Given the description of an element on the screen output the (x, y) to click on. 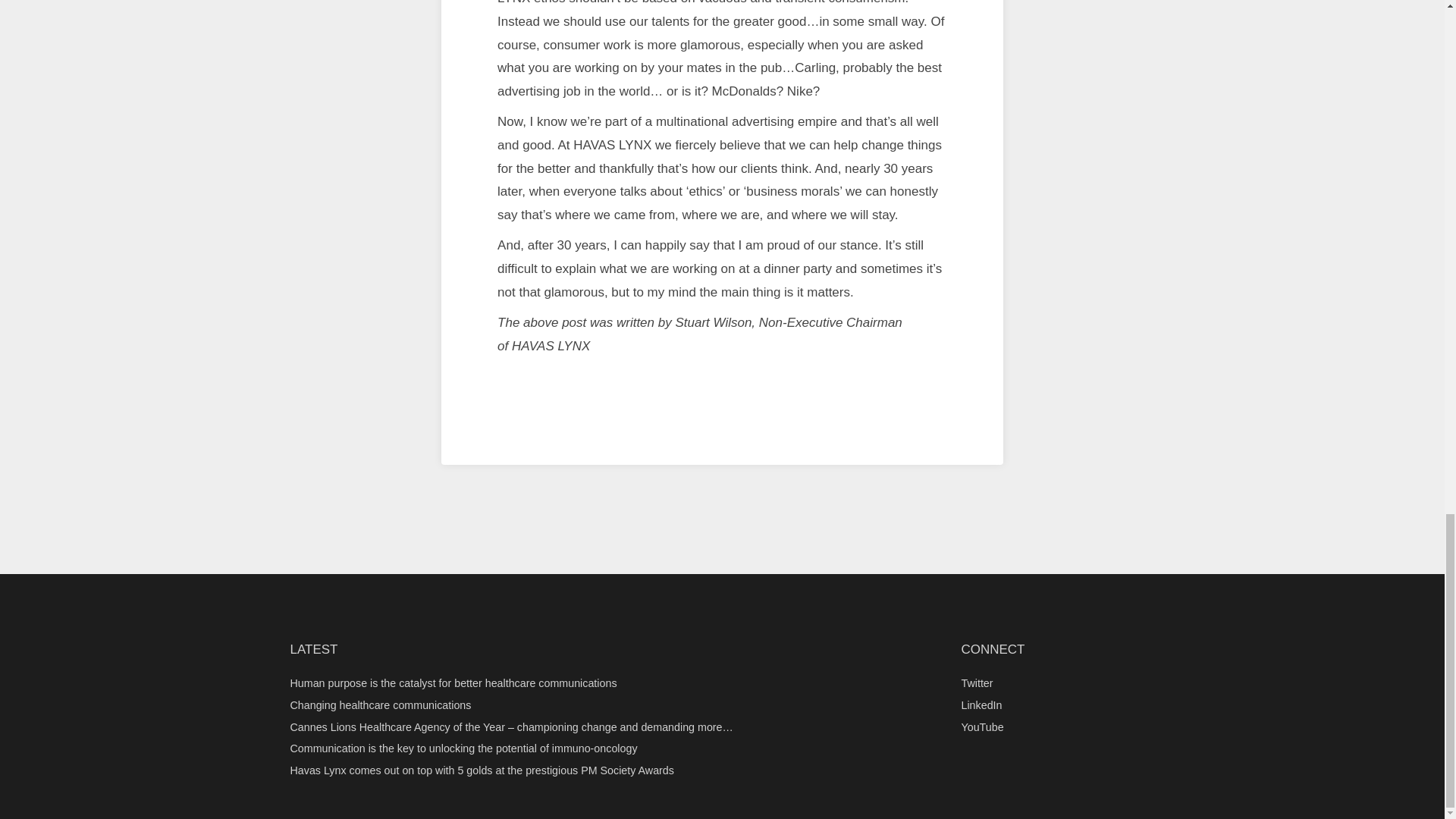
Twitter (976, 683)
LinkedIn (981, 705)
YouTube (982, 727)
Changing healthcare communications (379, 705)
